Given the description of an element on the screen output the (x, y) to click on. 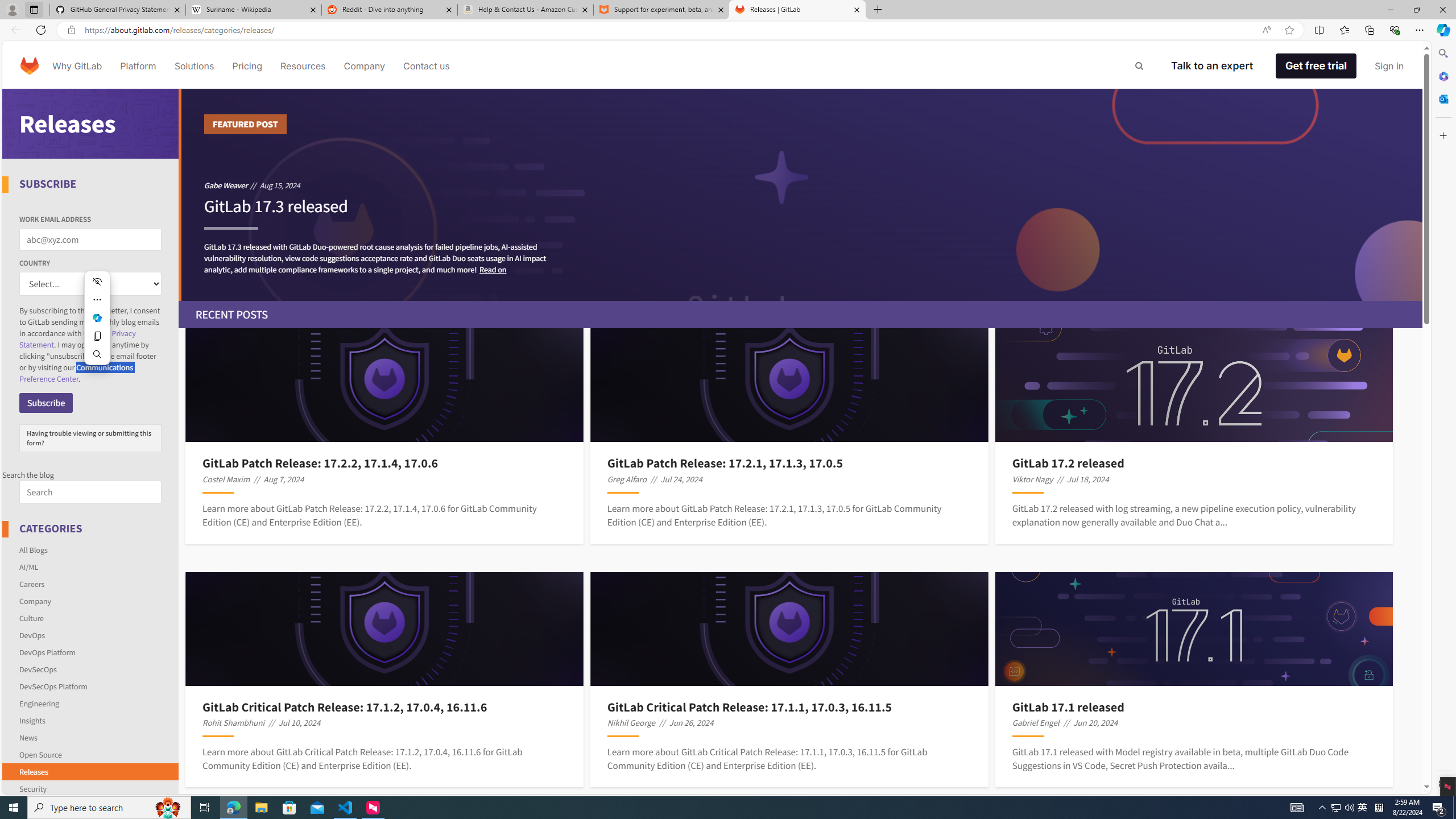
AutomationID: navigation (712, 64)
Suriname - Wikipedia (253, 9)
Gabriel Engel (1035, 722)
COUNTRY (89, 283)
Help & Contact Us - Amazon Customer Service - Sleeping (525, 9)
Ask Copilot (96, 317)
Sign in (1389, 65)
AI/ML (28, 566)
Contact us (426, 65)
Post Image (1193, 628)
